Given the description of an element on the screen output the (x, y) to click on. 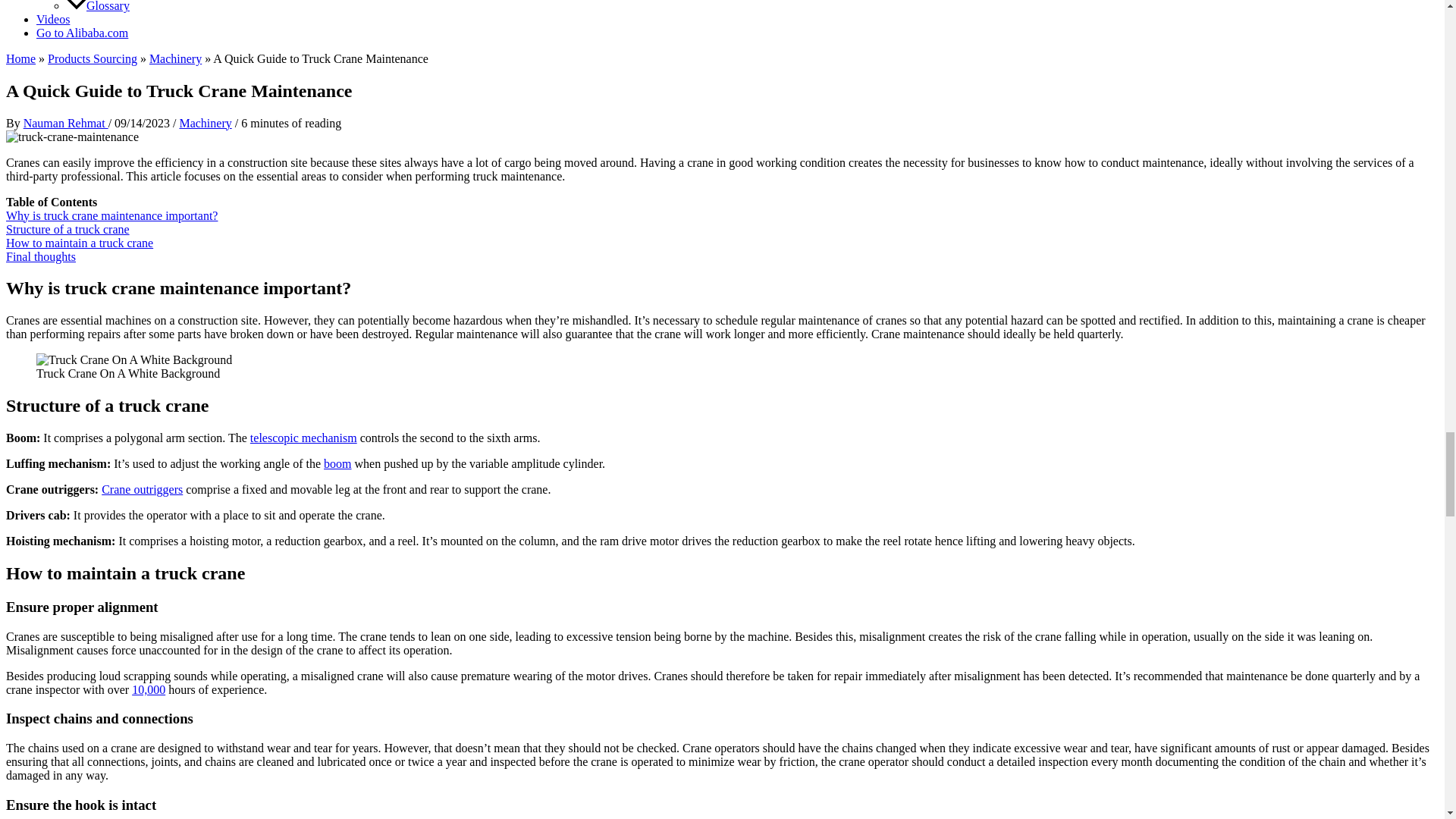
View all posts by Nauman Rehmat (65, 123)
